Given the description of an element on the screen output the (x, y) to click on. 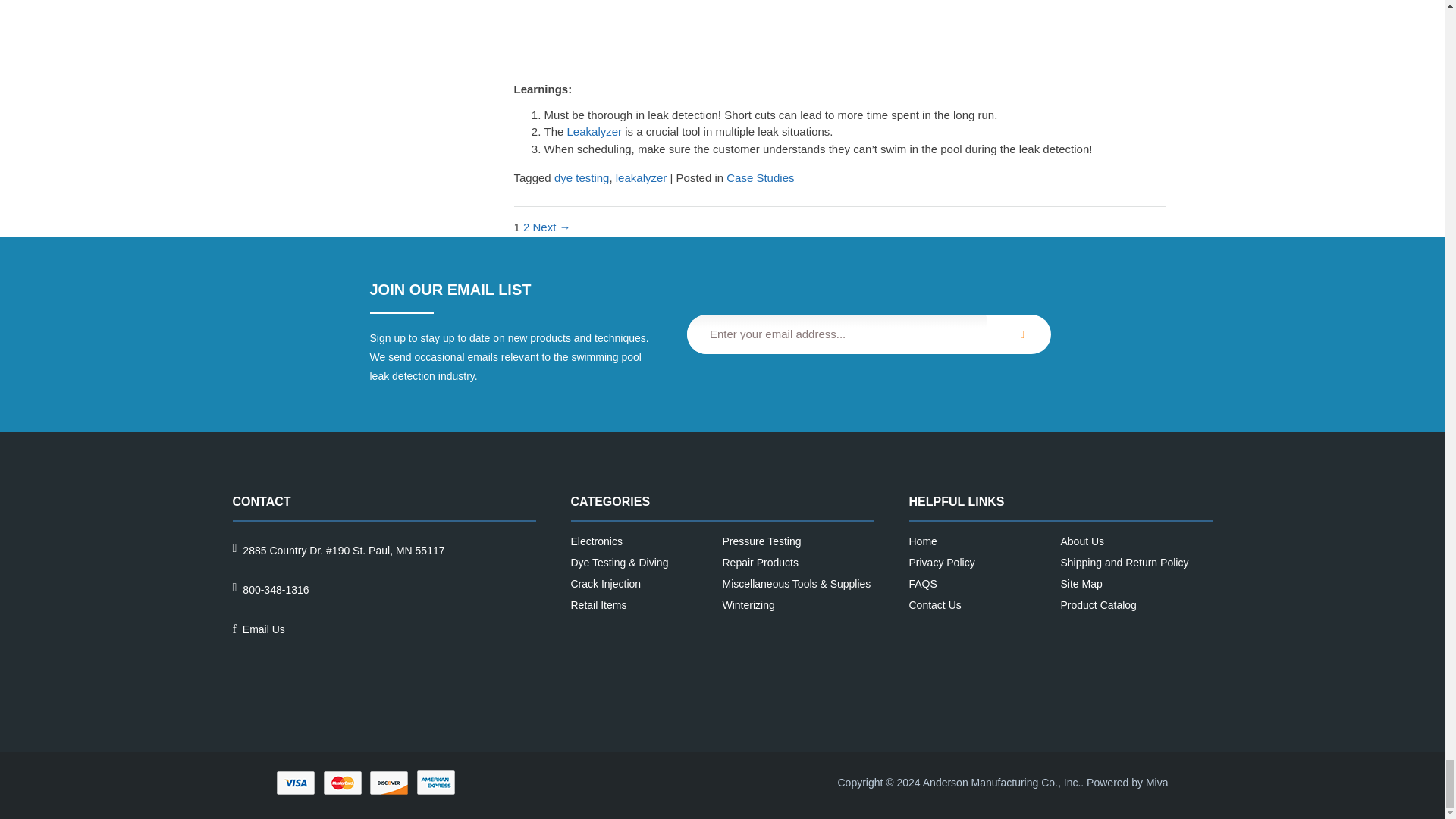
Submit (1019, 333)
Submit (1019, 333)
